Given the description of an element on the screen output the (x, y) to click on. 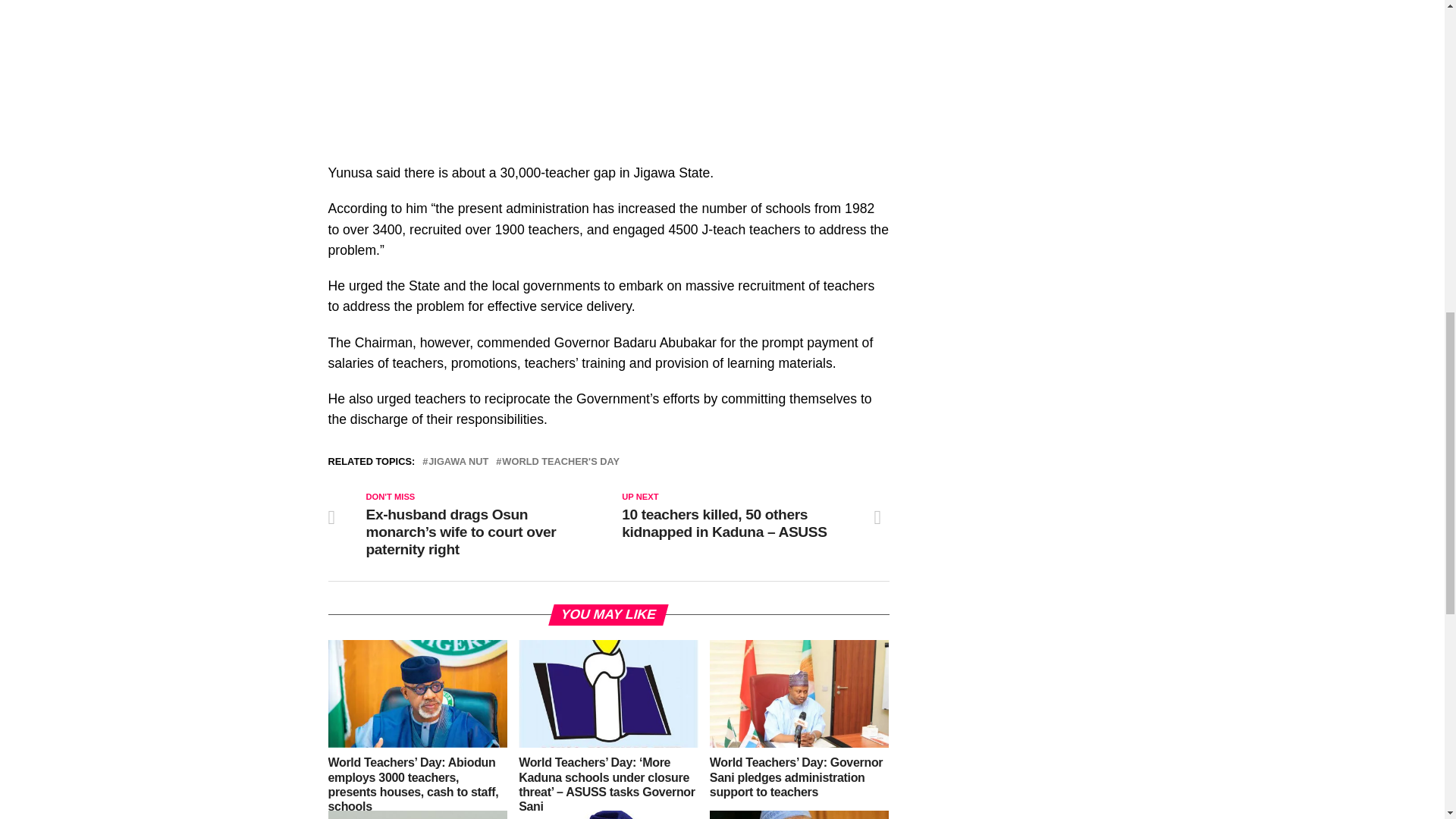
JIGAWA NUT (457, 461)
WORLD TEACHER'S DAY (561, 461)
